Given the description of an element on the screen output the (x, y) to click on. 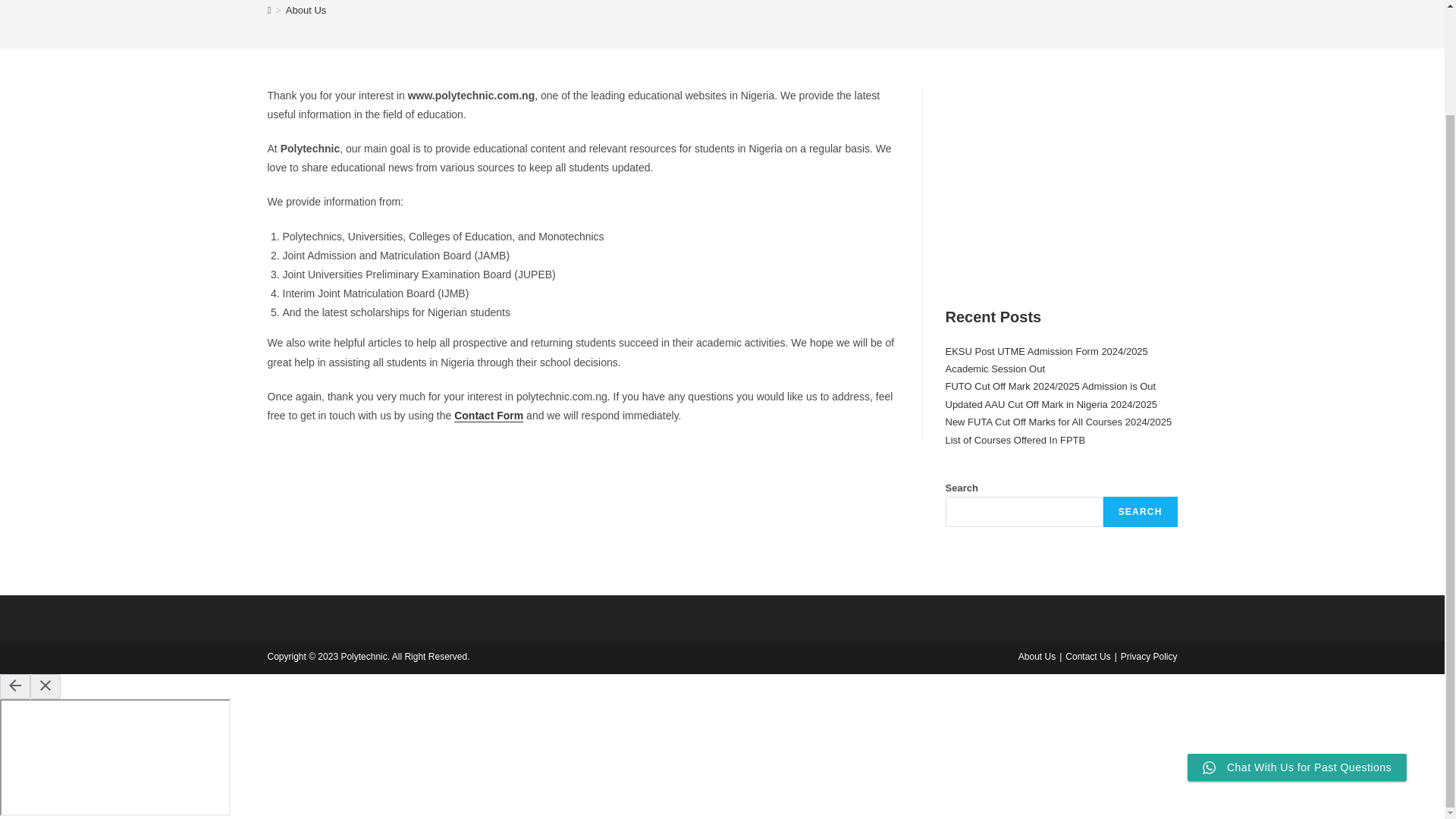
Privacy Policy (1149, 656)
Advertisement (1060, 181)
Contact Us (1087, 656)
About Us (305, 9)
About Us (1036, 656)
List of Courses Offered In FPTB (1014, 439)
Contact Form (488, 415)
SEARCH (1140, 511)
